Given the description of an element on the screen output the (x, y) to click on. 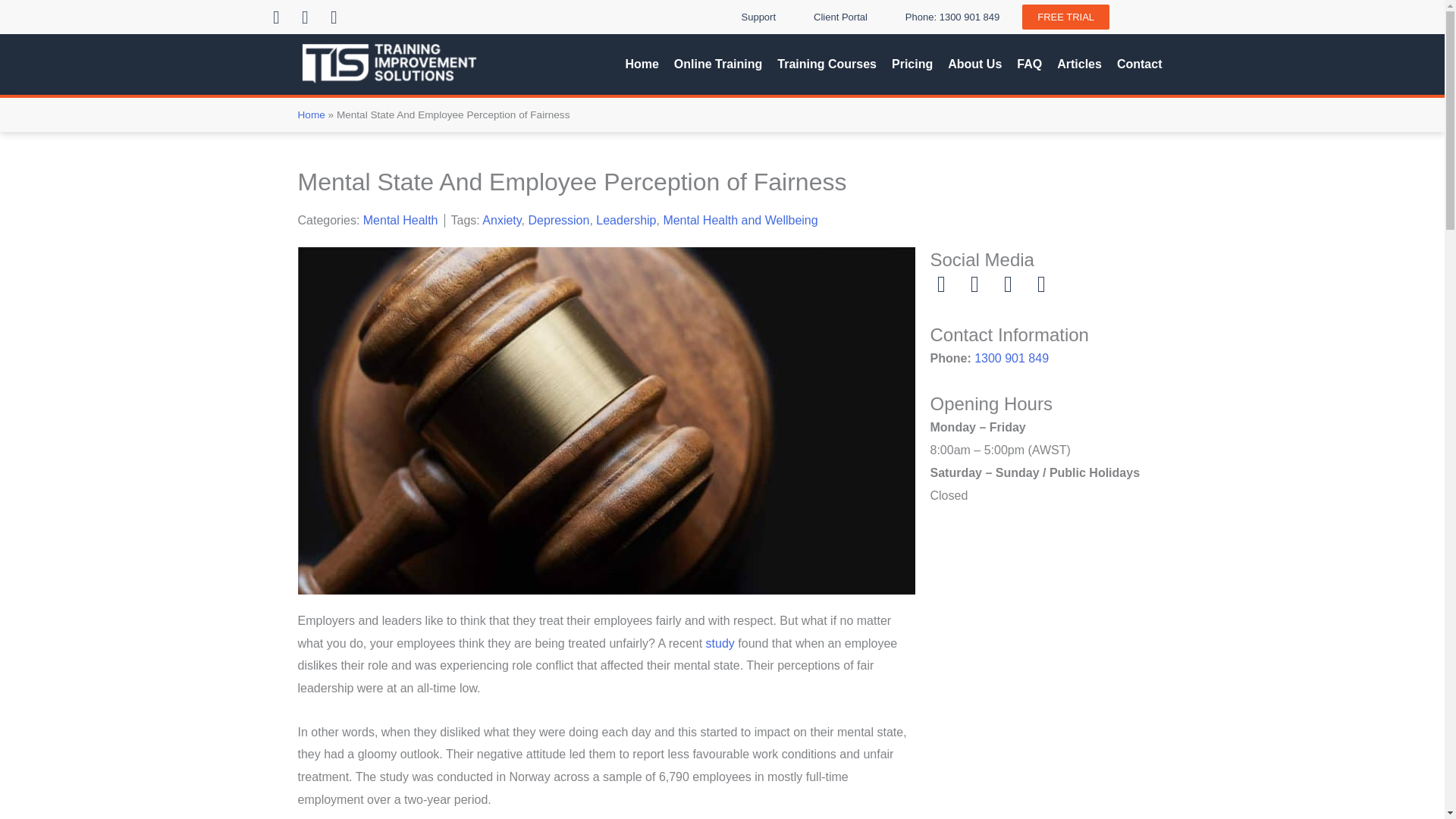
FREE TRIAL (1065, 16)
Phone: 1300 901 849 (951, 16)
Support (759, 16)
Facebook-square (304, 16)
Linkedin (275, 16)
Client Portal (839, 16)
Youtube-square (333, 16)
Training Courses (826, 64)
Online Training (717, 64)
